Given the description of an element on the screen output the (x, y) to click on. 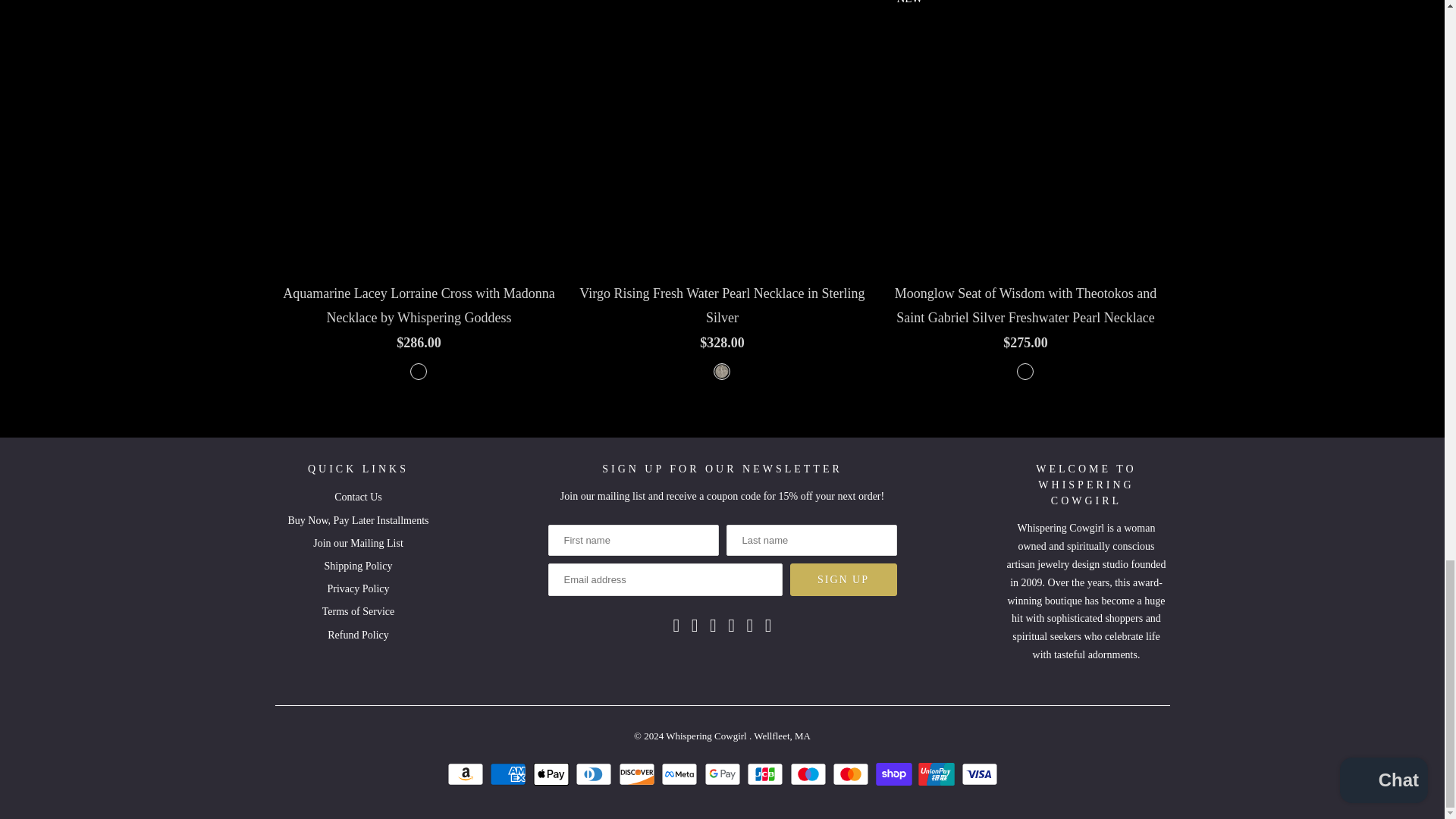
Diners Club (595, 773)
JCB (766, 773)
Meta Pay (681, 773)
Union Pay (938, 773)
Amazon (466, 773)
Discover (638, 773)
American Express (509, 773)
Apple Pay (552, 773)
Maestro (809, 773)
Sign Up (843, 579)
